Given the description of an element on the screen output the (x, y) to click on. 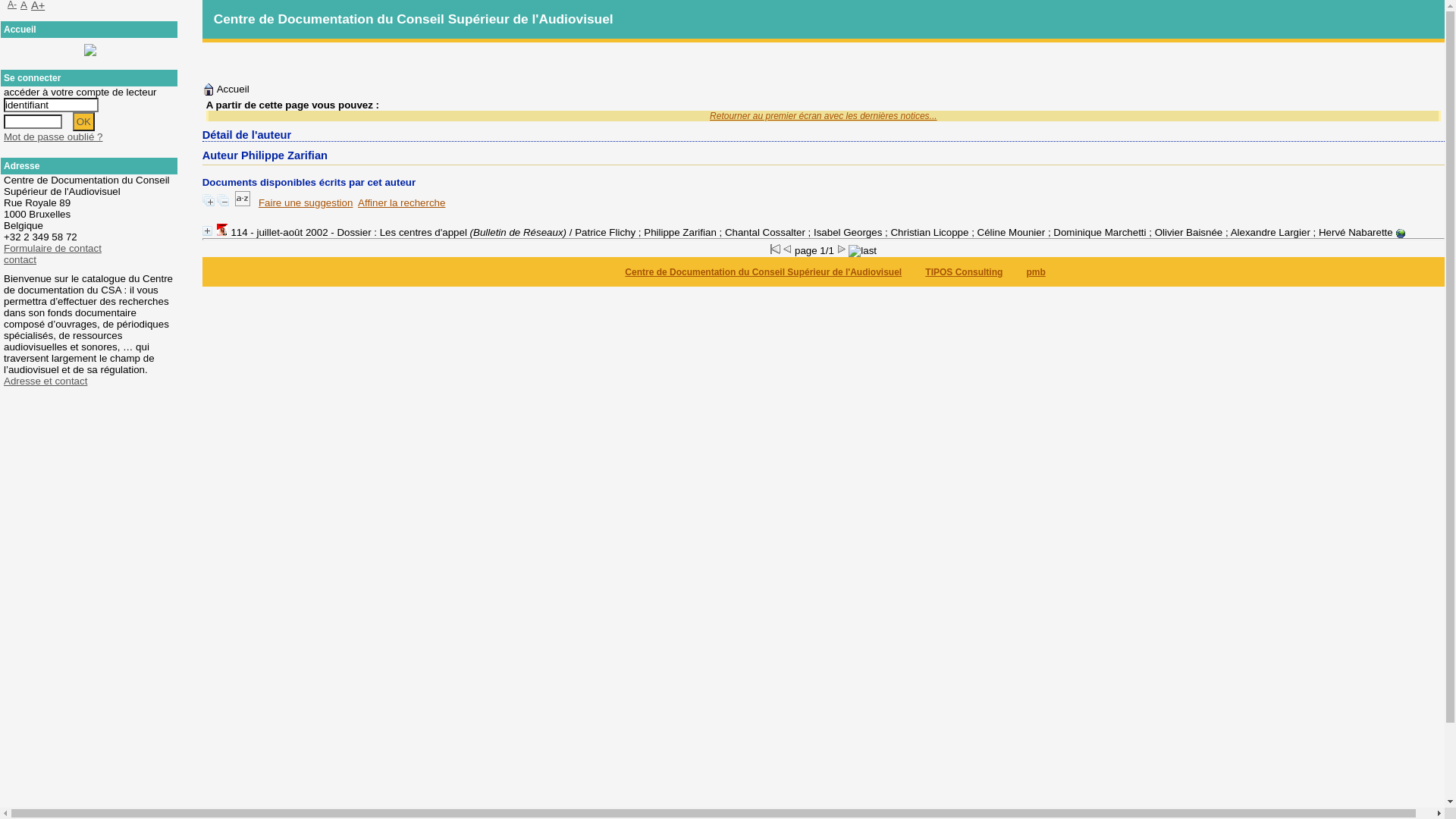
pmb Element type: text (1035, 271)
Tris disponibles Element type: hover (242, 202)
ok Element type: text (83, 121)
Adresse et contact Element type: text (45, 380)
contact Element type: text (19, 259)
Accueil Element type: text (19, 29)
Ouvrir le lien  Element type: hover (1400, 233)
TIPOS Consulting Element type: text (963, 271)
Accueil Element type: text (225, 88)
Affiner la recherche Element type: text (401, 202)
Formulaire de contact Element type: text (52, 248)
Faire une suggestion Element type: text (305, 202)
